Given the description of an element on the screen output the (x, y) to click on. 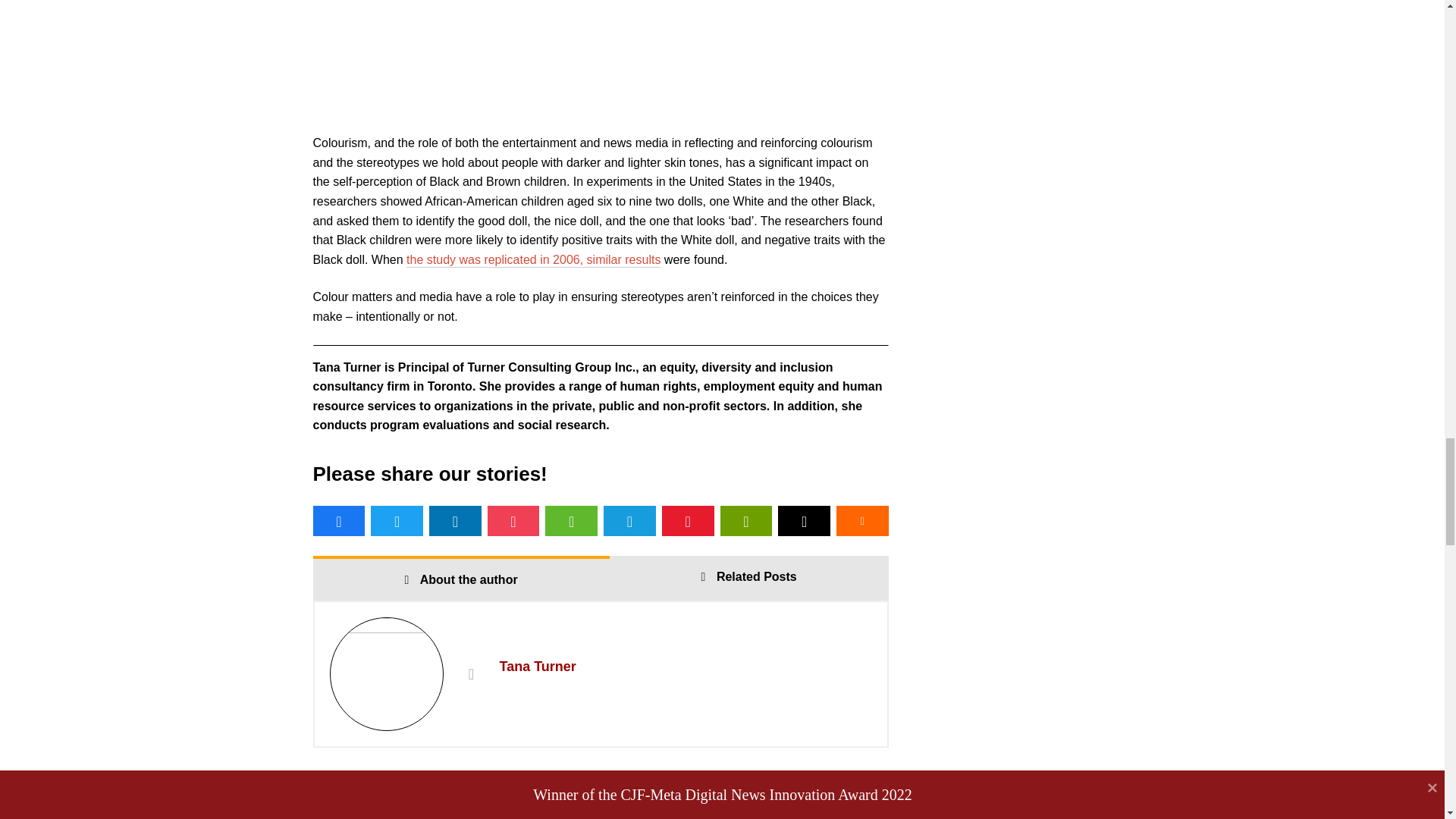
Black doll White doll (600, 57)
Print this article  (746, 521)
Telegram (630, 521)
Tweet this ! (397, 521)
Add this to LinkedIn (455, 521)
Submit this to Pocket (513, 521)
WhatsApp (570, 521)
Share this on Facebook (339, 521)
Convert to PDF (688, 521)
